Given the description of an element on the screen output the (x, y) to click on. 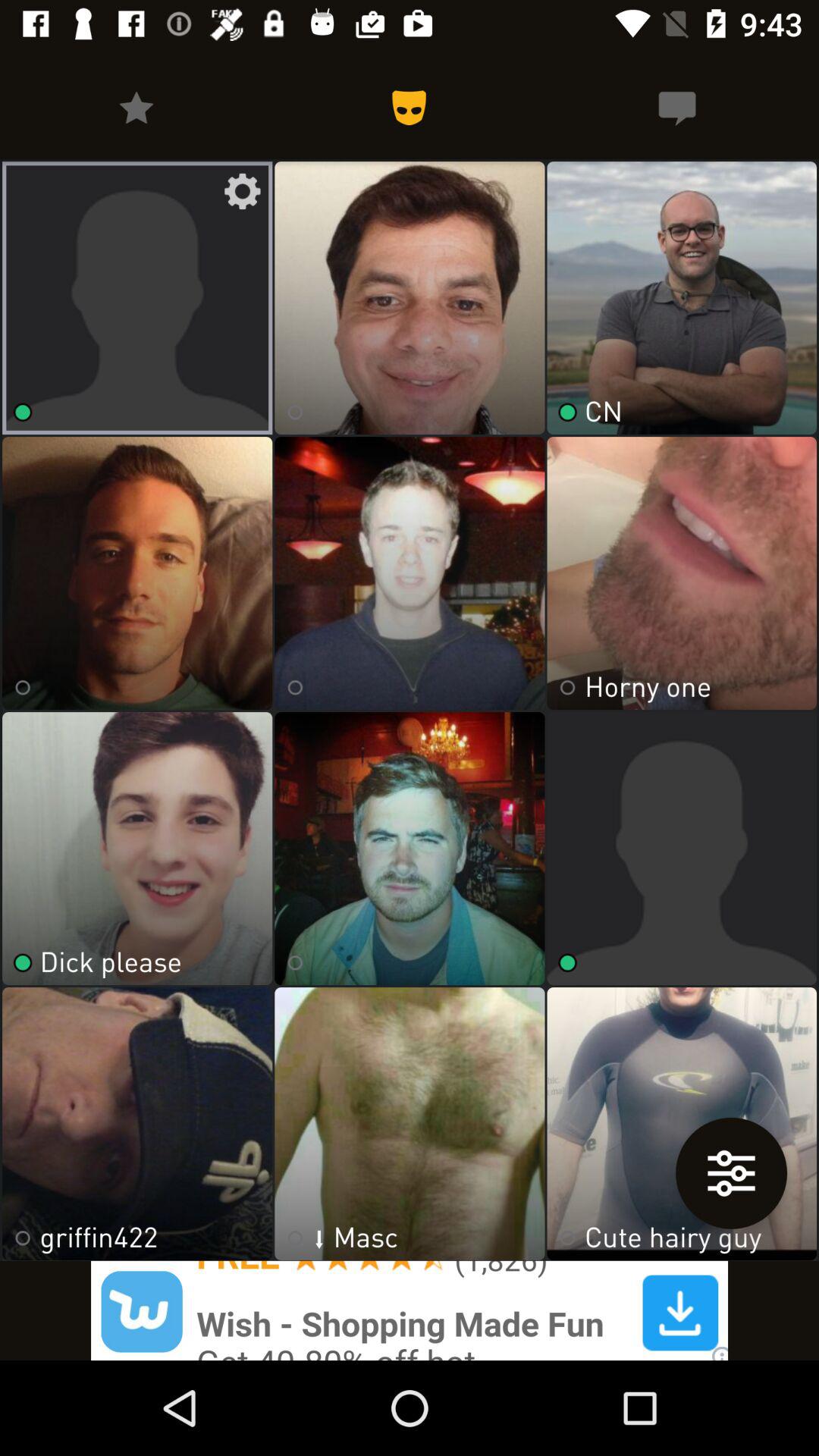
advertisement (409, 1310)
